Given the description of an element on the screen output the (x, y) to click on. 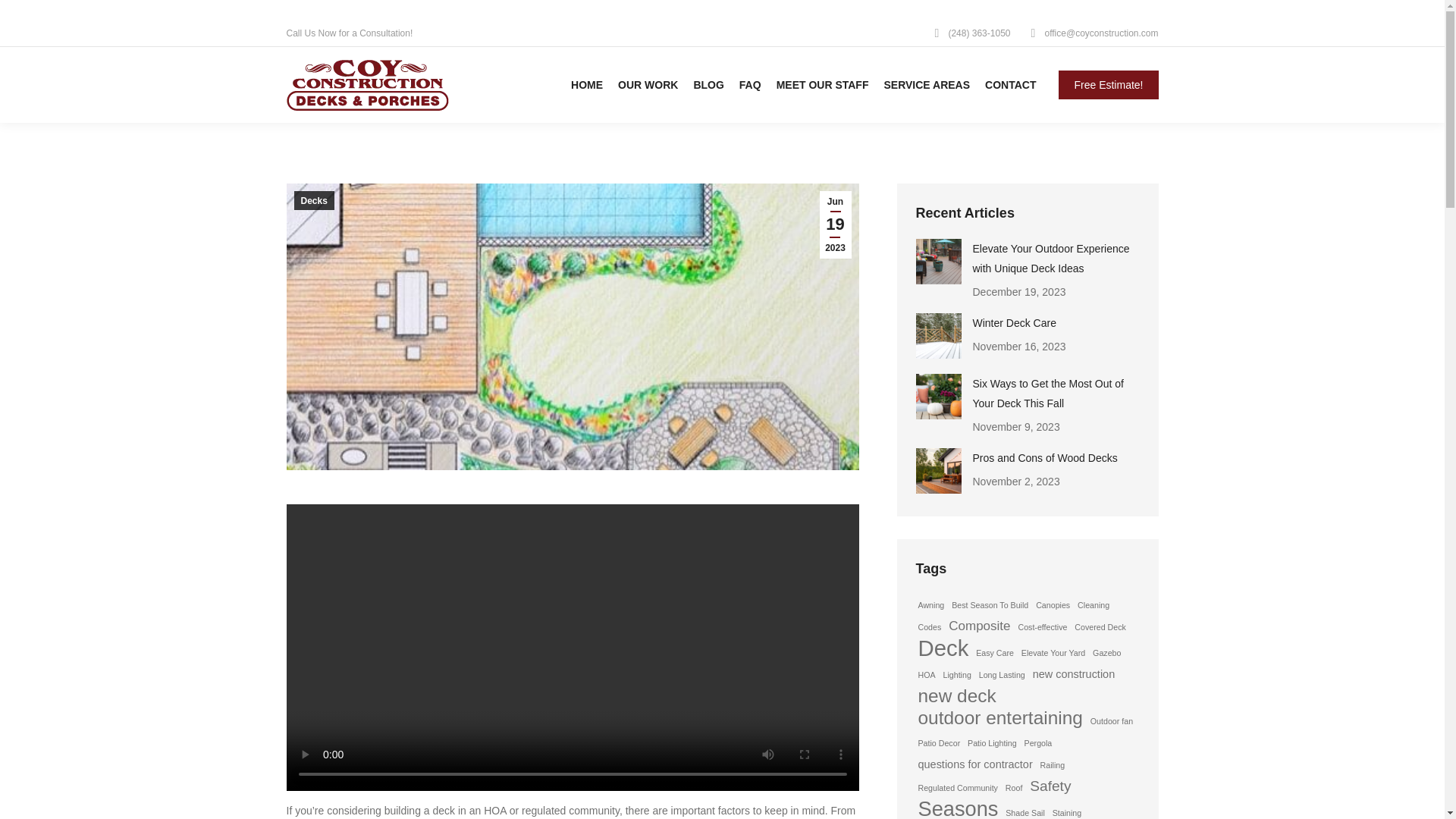
Free Estimate! (1107, 84)
OUR WORK (647, 84)
Decks (314, 199)
SERVICE AREAS (926, 84)
MEET OUR STAFF (822, 84)
